Given the description of an element on the screen output the (x, y) to click on. 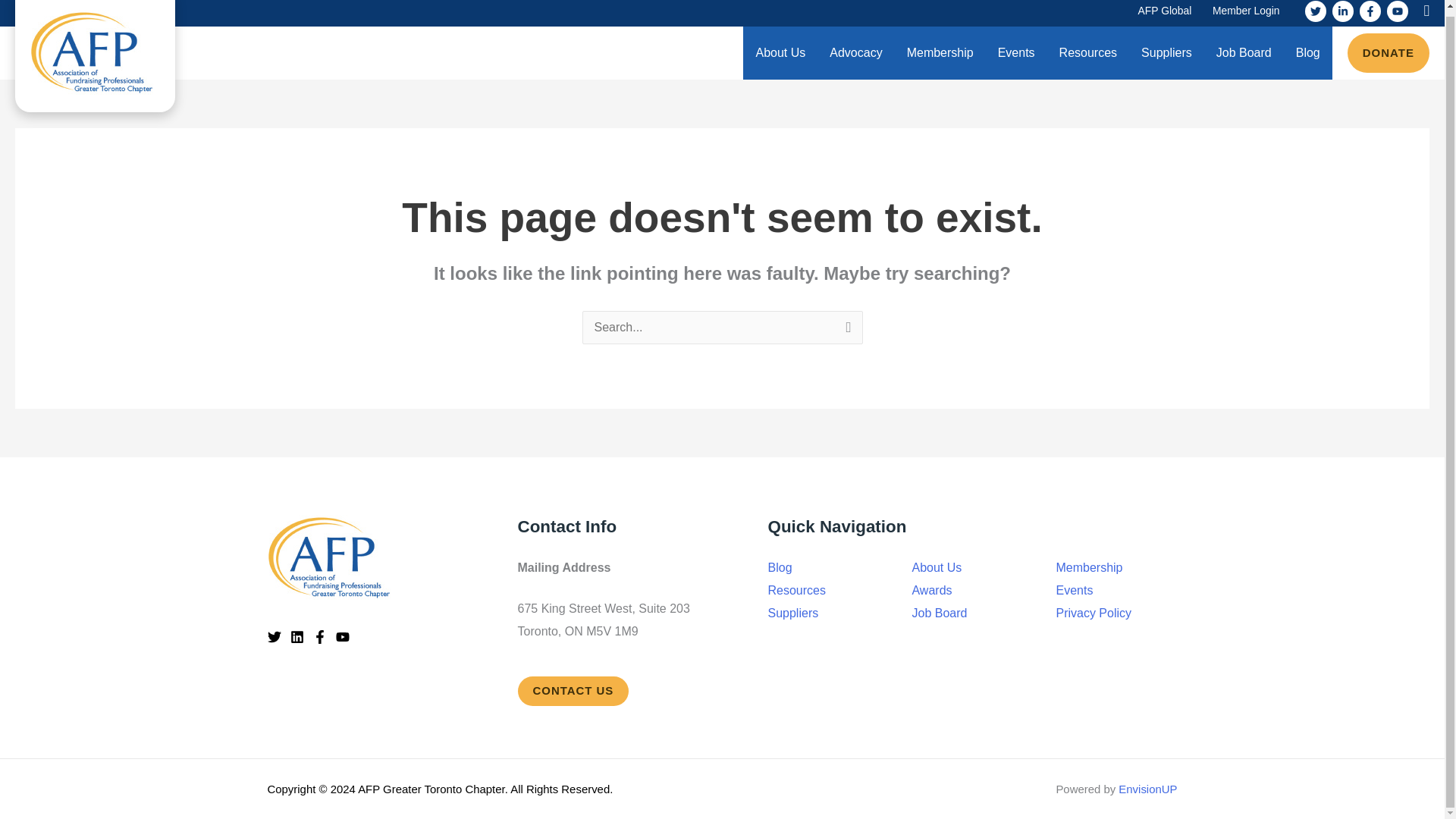
Events (1015, 52)
Advocacy (854, 52)
AFP Global (1164, 13)
Suppliers (1166, 52)
Resources (1087, 52)
Membership (940, 52)
Job Board (1244, 52)
About Us (779, 52)
Member Login (1246, 13)
